Given the description of an element on the screen output the (x, y) to click on. 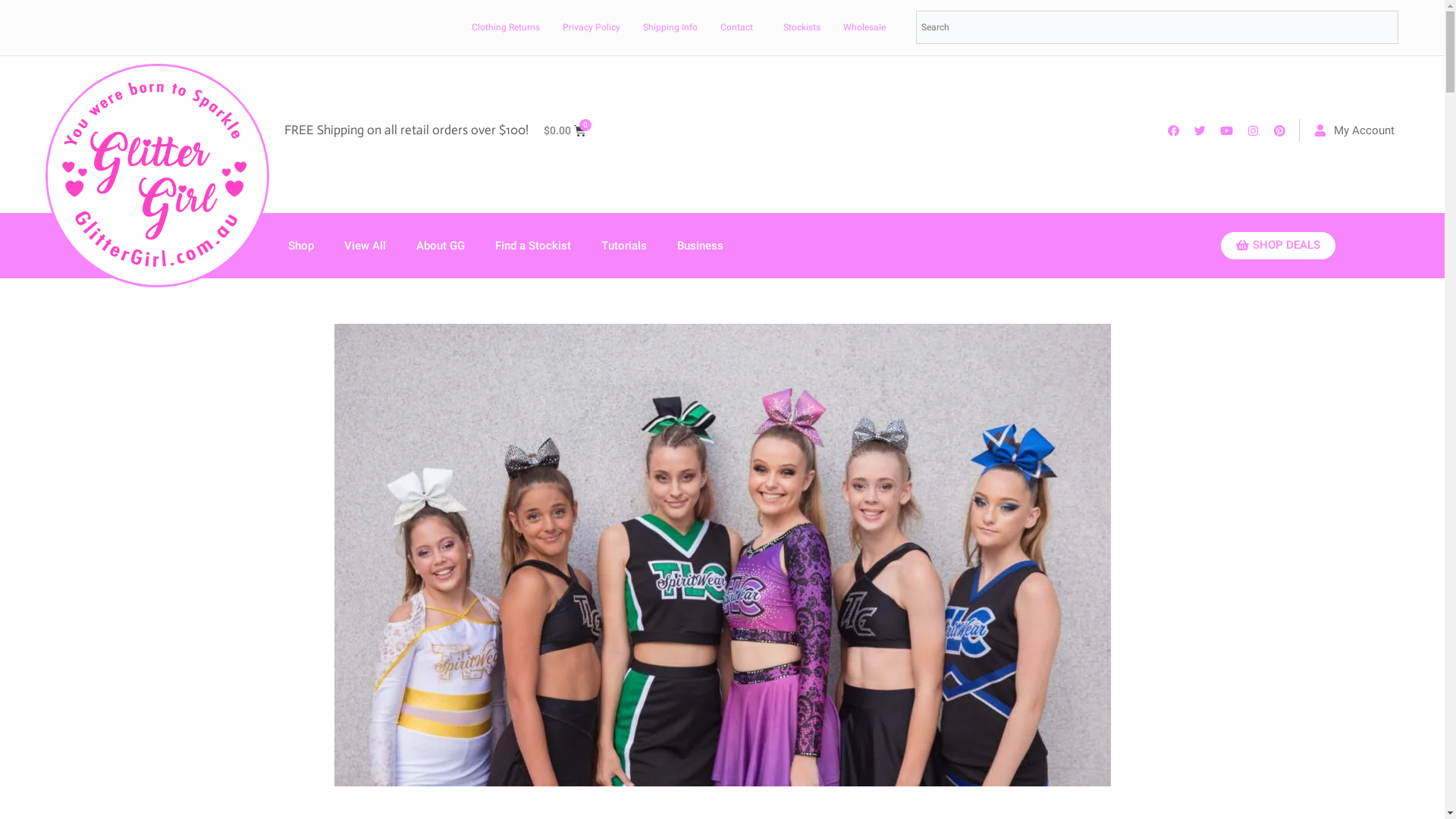
View All Element type: text (365, 245)
Business Element type: text (711, 24)
My Account Element type: text (1354, 130)
Find a Stockist Element type: text (544, 24)
Tutorials Element type: text (635, 24)
SHOP DEALS Element type: text (1076, 24)
Tutorials Element type: text (624, 245)
Shop Element type: text (312, 24)
Clothing Returns Element type: text (505, 26)
Business Element type: text (700, 245)
SHOP DEALS Element type: text (1277, 245)
Wholesale Element type: text (864, 26)
Contact Element type: text (736, 26)
Find a Stockist Element type: text (533, 245)
$0.00
0 Element type: text (564, 130)
Privacy Policy Element type: text (591, 26)
About GG Element type: text (451, 24)
View All Element type: text (376, 24)
About GG Element type: text (440, 245)
Shipping Info Element type: text (669, 26)
Shop Element type: text (301, 245)
Stockists Element type: text (801, 26)
